Given the description of an element on the screen output the (x, y) to click on. 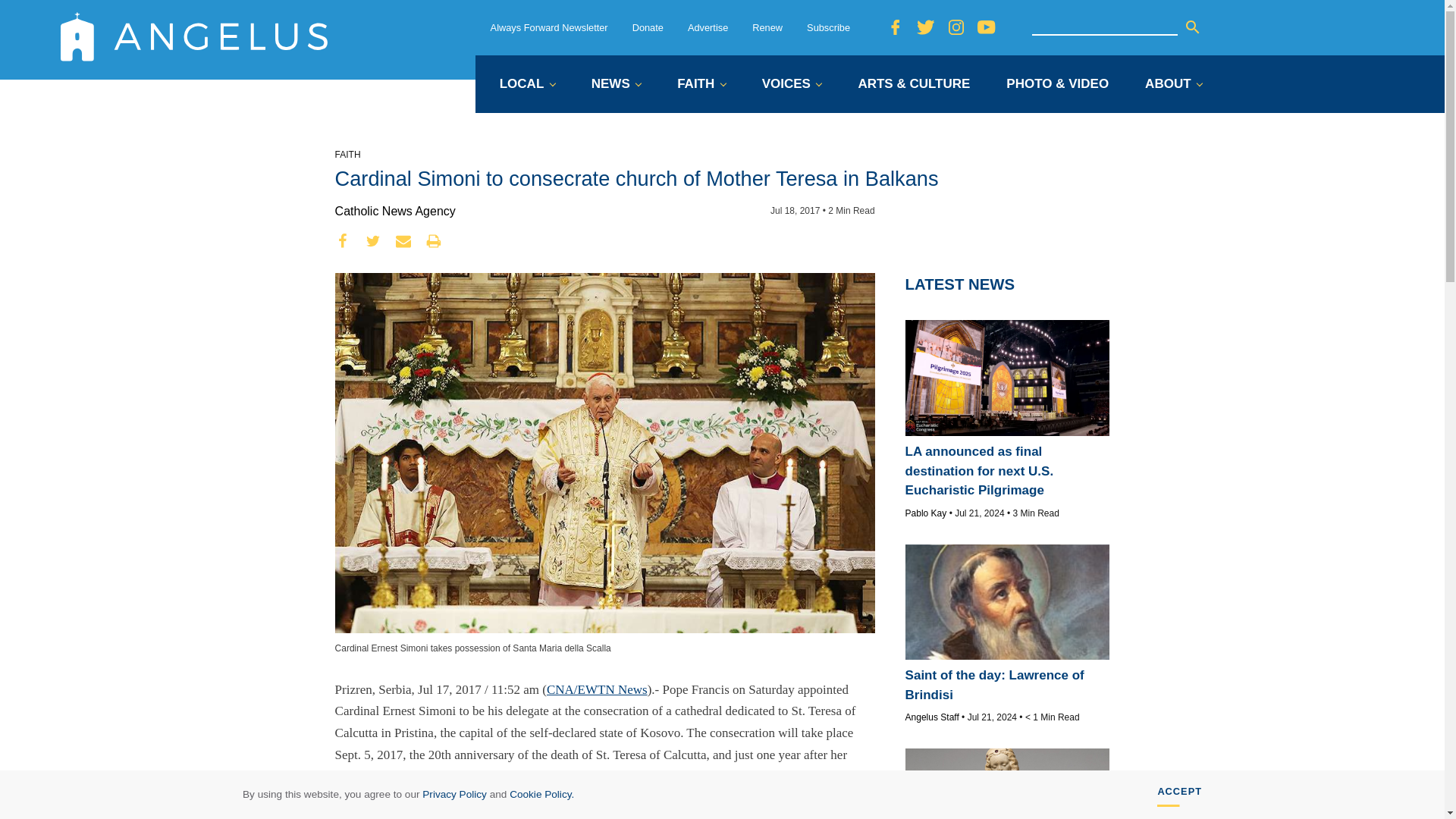
LOCAL (526, 84)
Donate (647, 27)
Cookie Policy. (541, 794)
NEWS (615, 84)
Privacy Policy (454, 794)
ACCEPT (1179, 794)
Renew (767, 27)
Search (1192, 27)
Always Forward Newsletter (549, 27)
print (433, 240)
envelope (403, 240)
VOICES (791, 84)
Posts by Catholic News Agency (394, 210)
FAITH (701, 84)
Posts by Angelus Staff (932, 716)
